Given the description of an element on the screen output the (x, y) to click on. 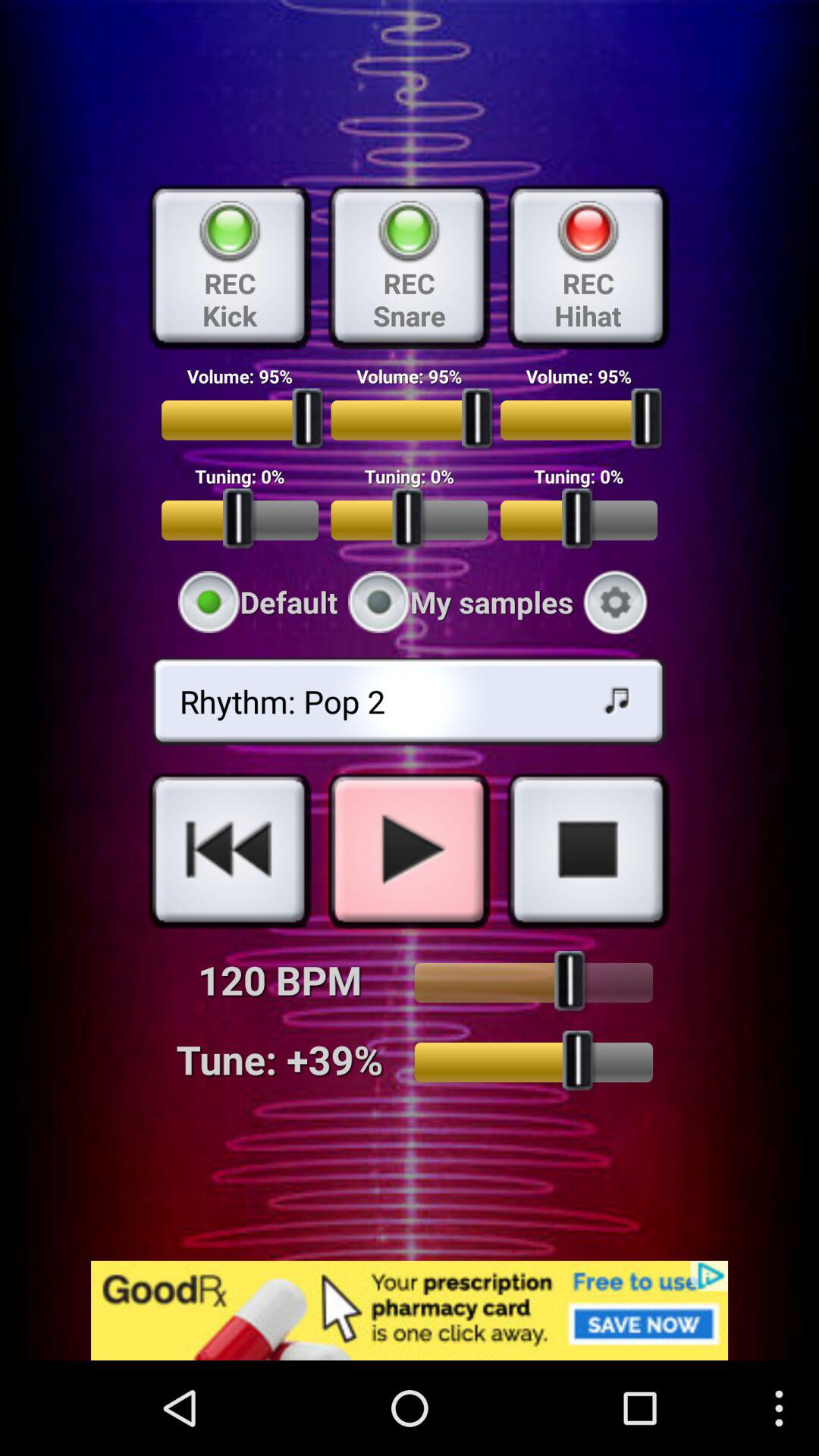
play option (408, 850)
